Given the description of an element on the screen output the (x, y) to click on. 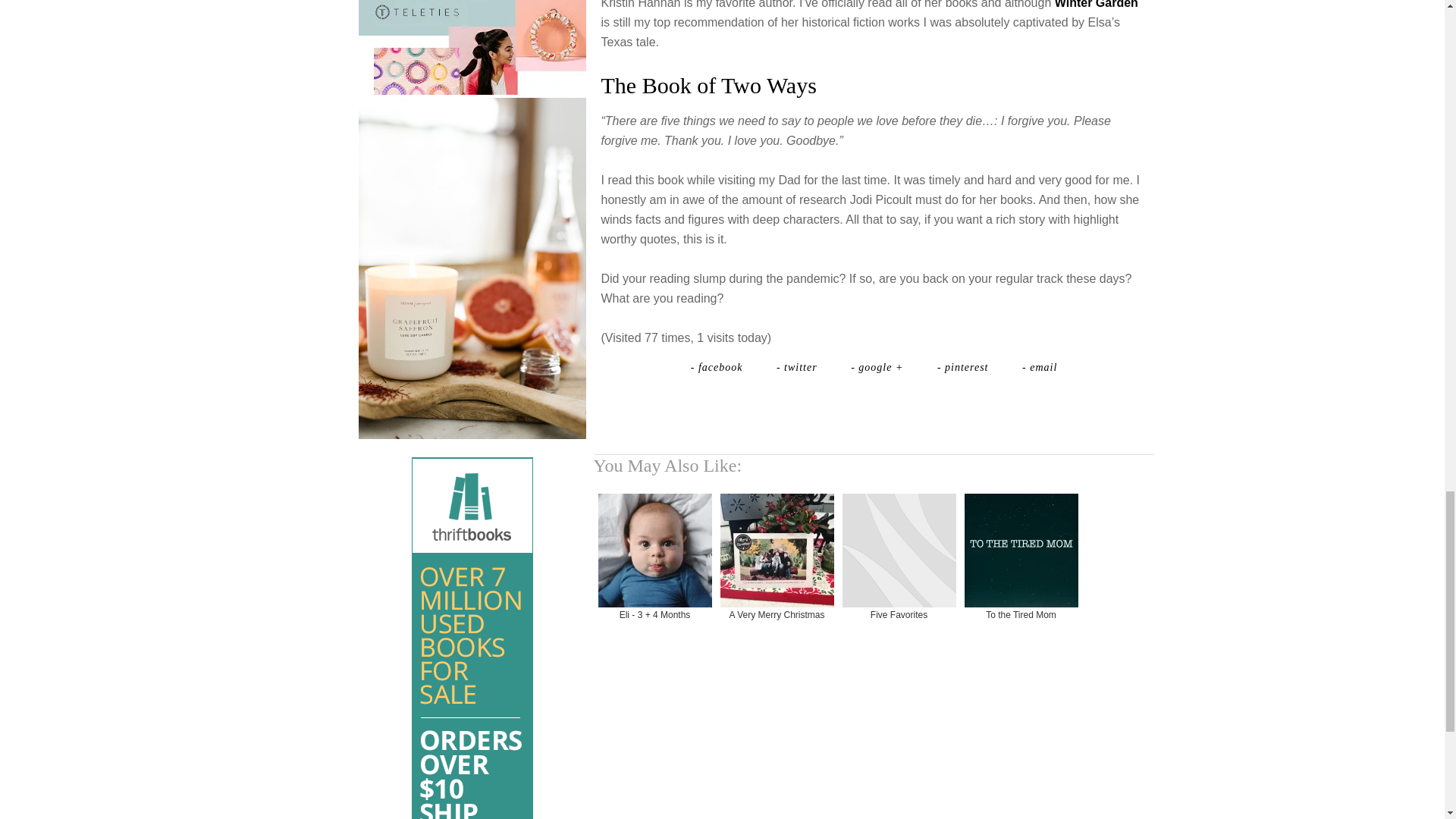
Winter Garden (1096, 4)
- pinterest (964, 367)
- email (1039, 367)
Share on Facebook (718, 367)
The Book of Two Ways (707, 84)
- twitter (798, 367)
Pinterest (964, 367)
- facebook (718, 367)
Tweet This Post (798, 367)
